Given the description of an element on the screen output the (x, y) to click on. 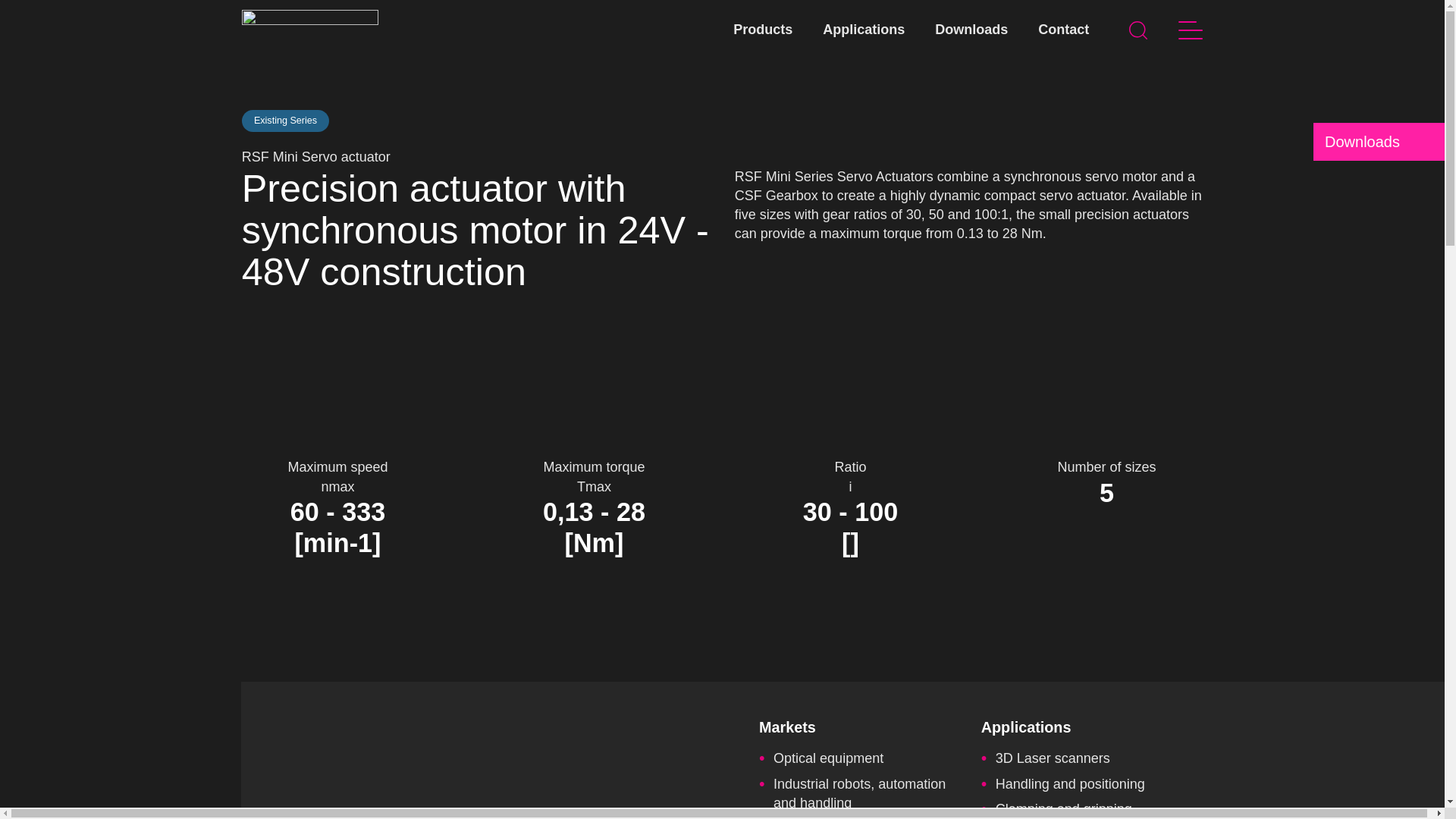
Contact (1063, 29)
Applications (863, 29)
Products (762, 29)
Downloads (970, 29)
Downloads (1378, 141)
